Given the description of an element on the screen output the (x, y) to click on. 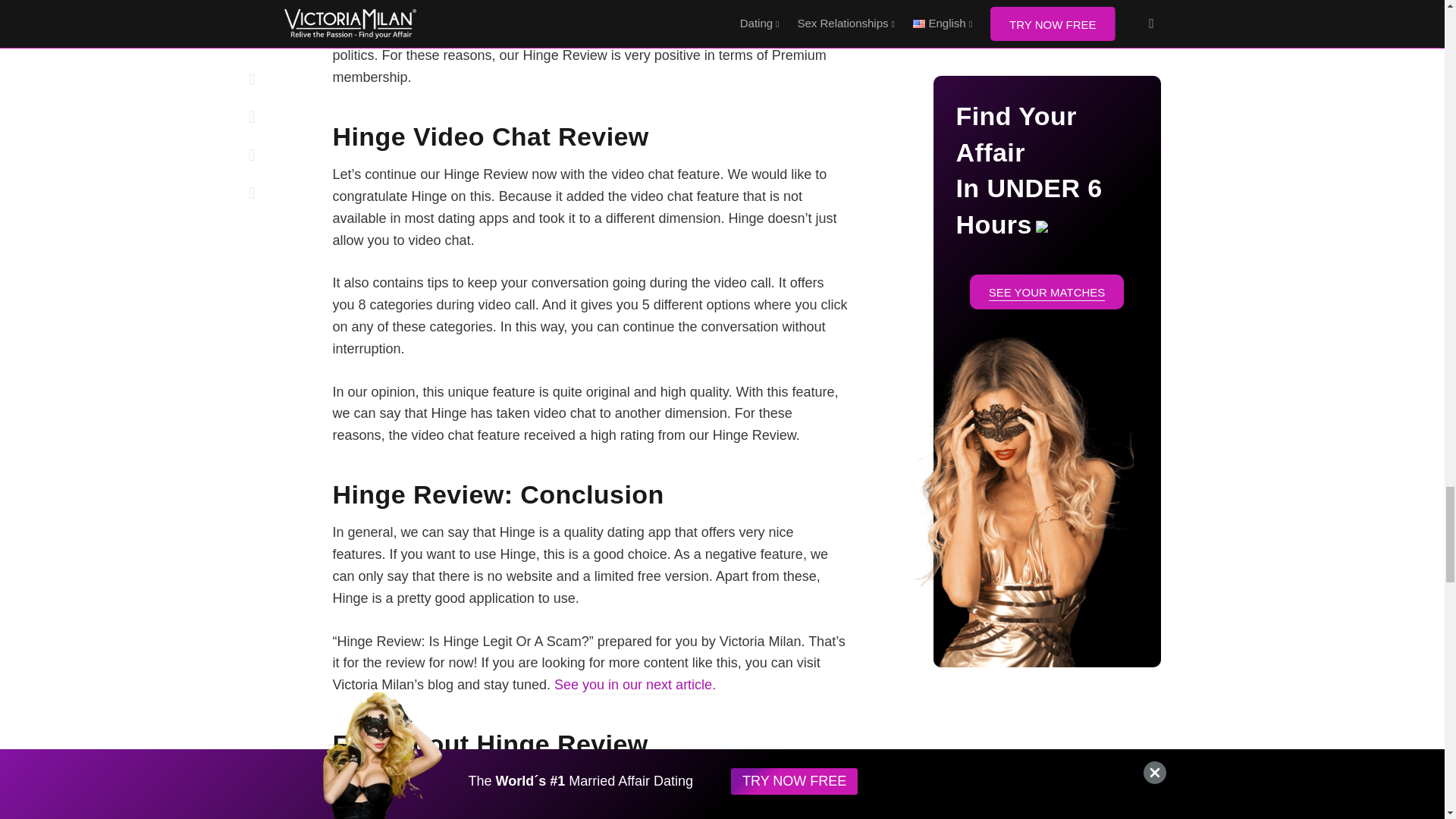
See you in our next article. (635, 685)
